Given the description of an element on the screen output the (x, y) to click on. 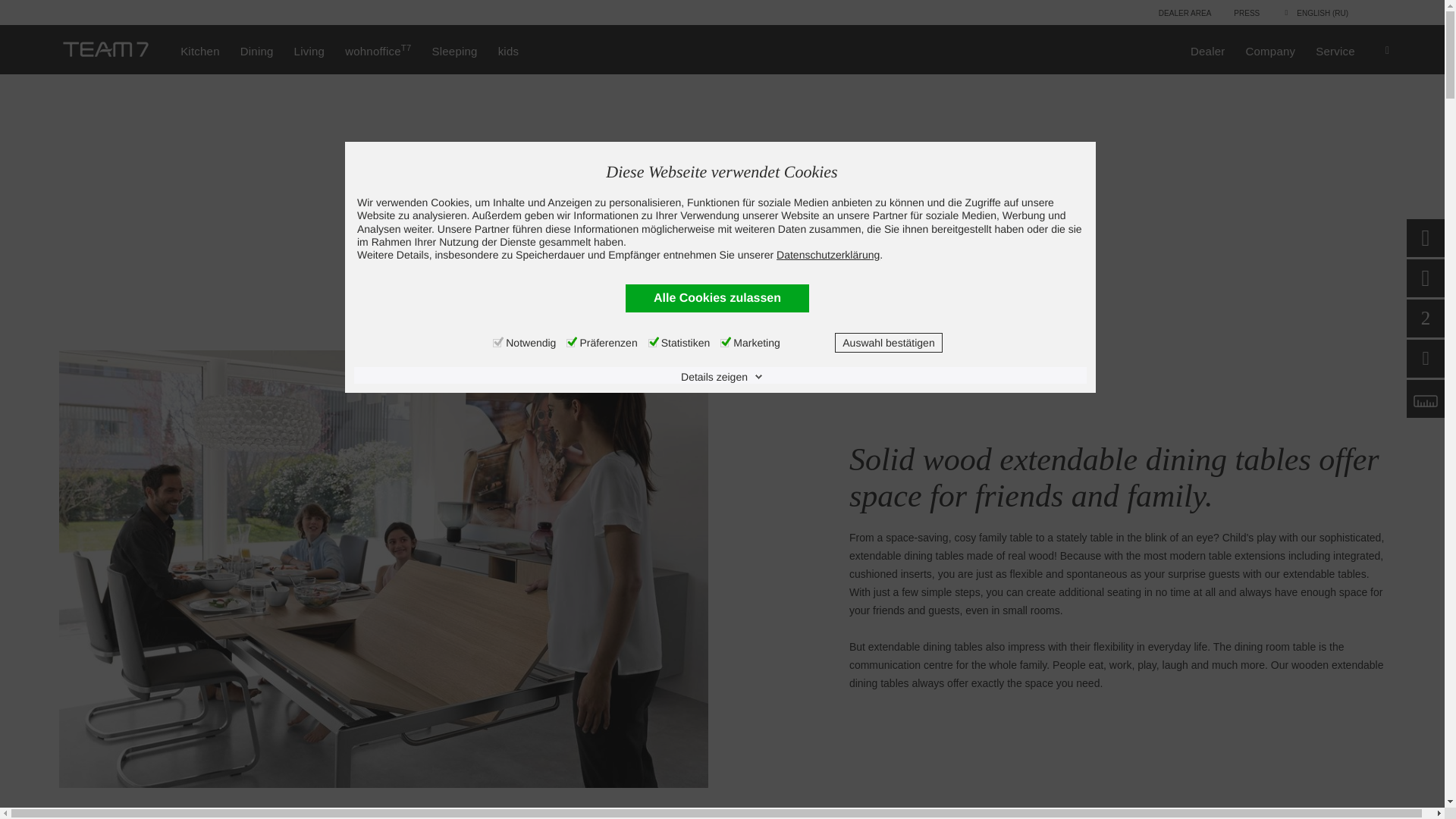
Alle Cookies zulassen (717, 298)
Details zeigen (721, 376)
